Given the description of an element on the screen output the (x, y) to click on. 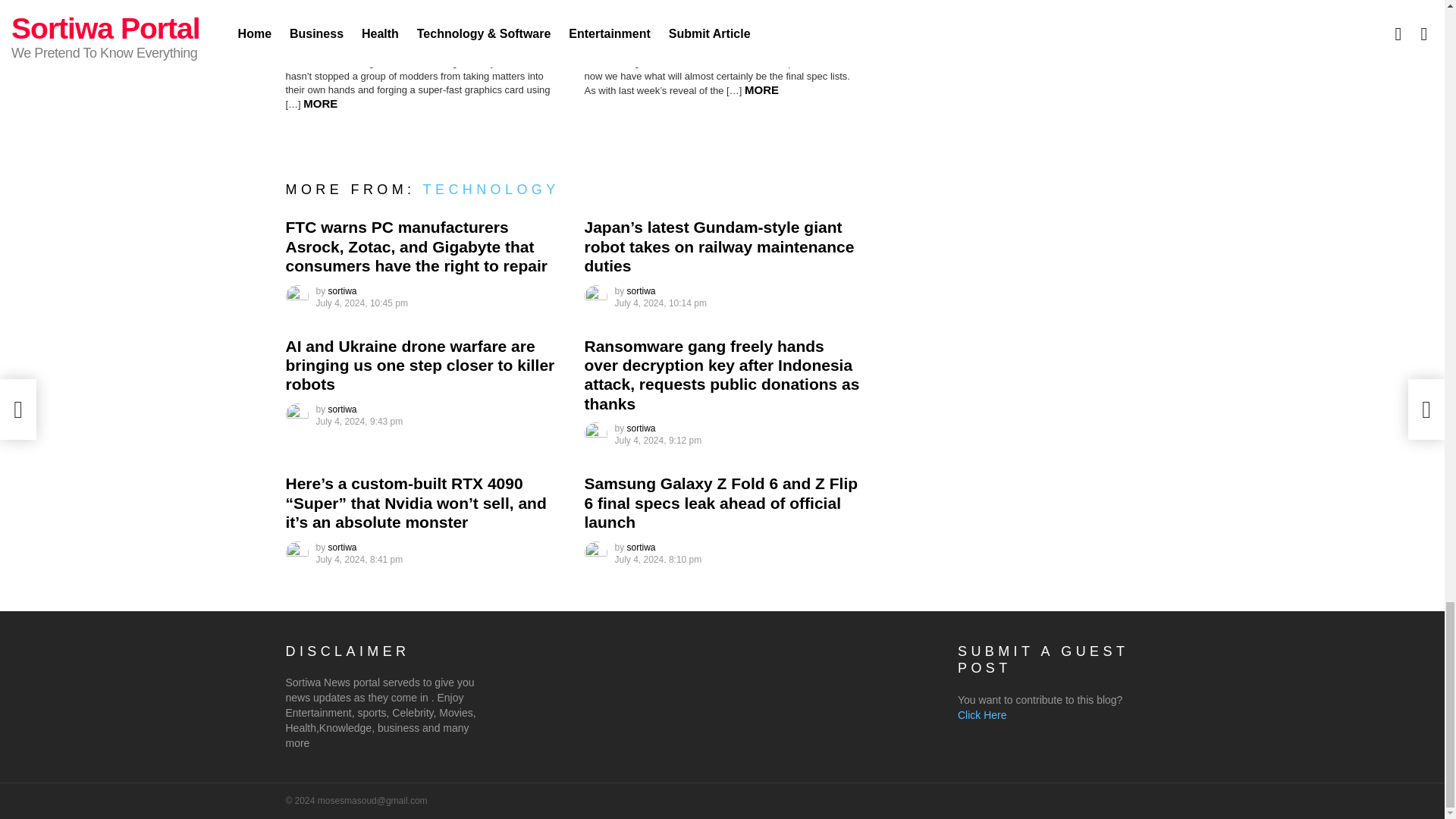
Posts by sortiwa (641, 428)
Posts by sortiwa (342, 547)
Posts by sortiwa (641, 290)
Posts by sortiwa (342, 290)
Posts by sortiwa (342, 409)
Posts by sortiwa (641, 547)
